Given the description of an element on the screen output the (x, y) to click on. 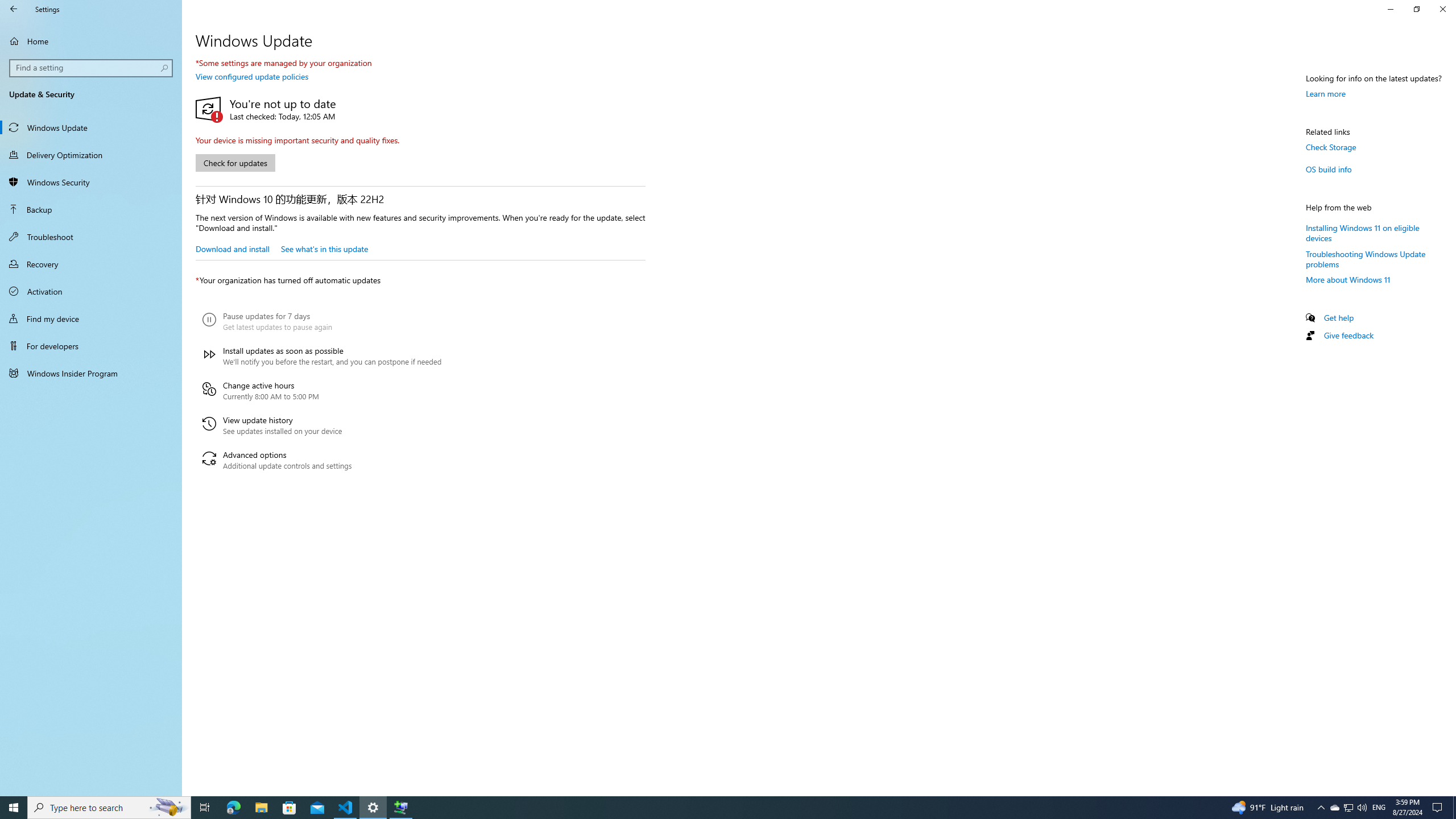
More about Windows 11 (1348, 279)
View configured update policies (251, 76)
Learn more (1326, 93)
Check for updates (235, 162)
Activation (91, 290)
OS build info (1329, 168)
Advanced options (321, 460)
Backup (91, 208)
